Given the description of an element on the screen output the (x, y) to click on. 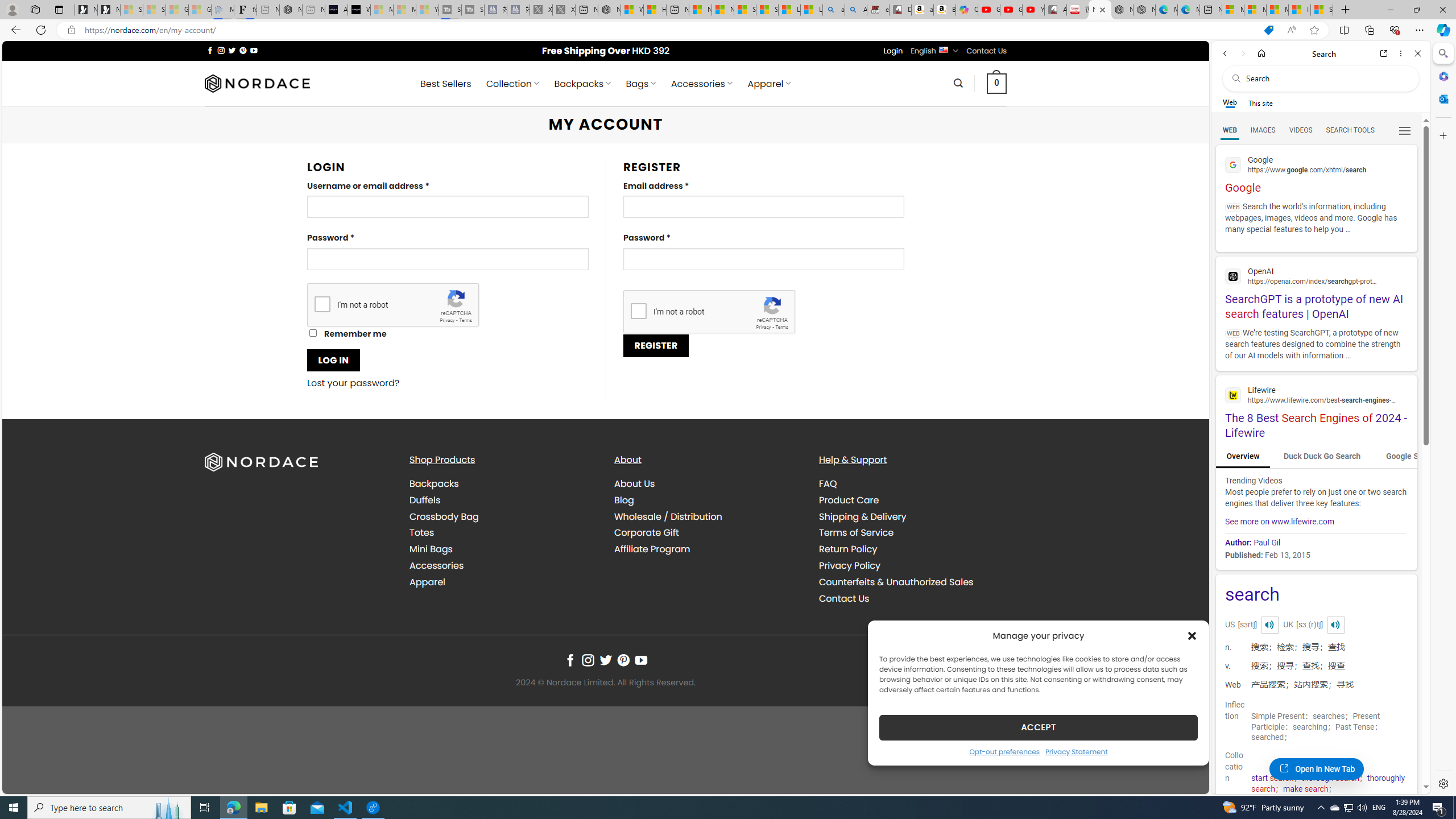
VIDEOS (1300, 130)
Published: Feb 13, 2015 (1315, 554)
 0  (996, 83)
ACCEPT (1038, 727)
